Given the description of an element on the screen output the (x, y) to click on. 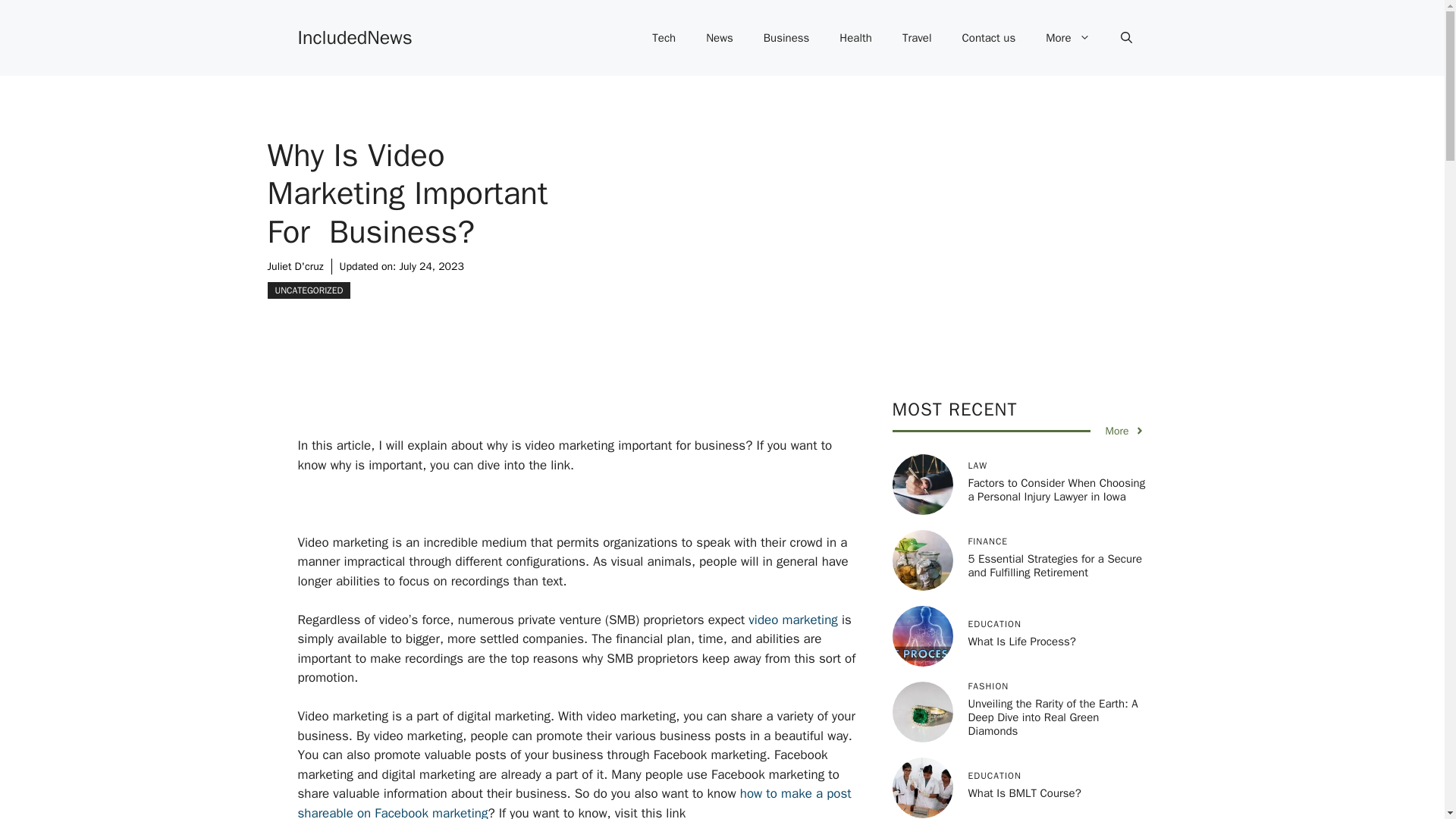
Contact us (988, 37)
Tech (663, 37)
how to make a post shareable on Facebook marketing (573, 802)
video marketing (792, 619)
Travel (916, 37)
UNCATEGORIZED (308, 289)
More (1067, 37)
IncludedNews (354, 37)
News (719, 37)
Business (786, 37)
Juliet D'cruz (294, 266)
Health (855, 37)
